Given the description of an element on the screen output the (x, y) to click on. 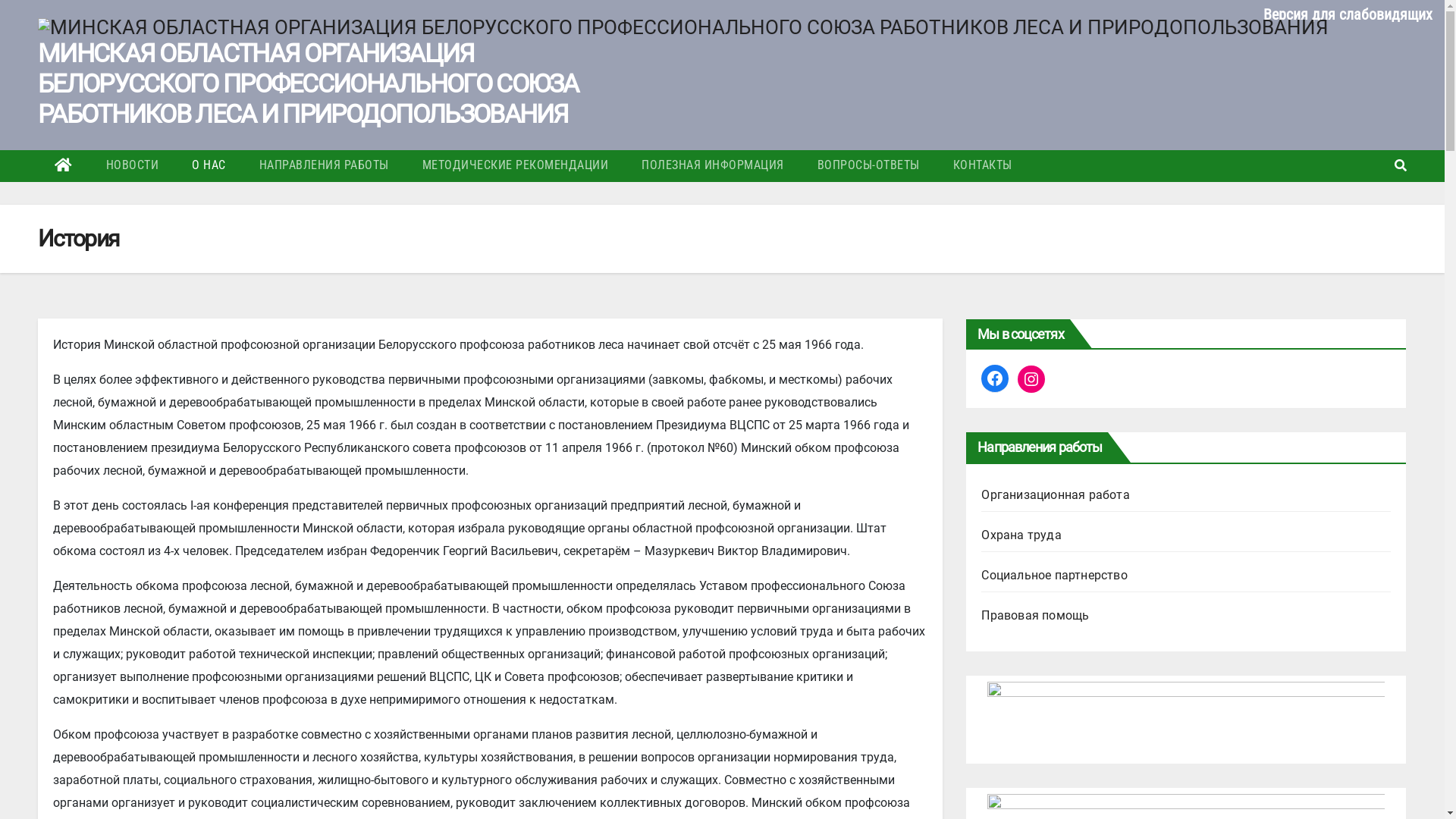
Home Element type: hover (63, 166)
Facebook Element type: text (994, 378)
Instagram Element type: text (1030, 378)
